Given the description of an element on the screen output the (x, y) to click on. 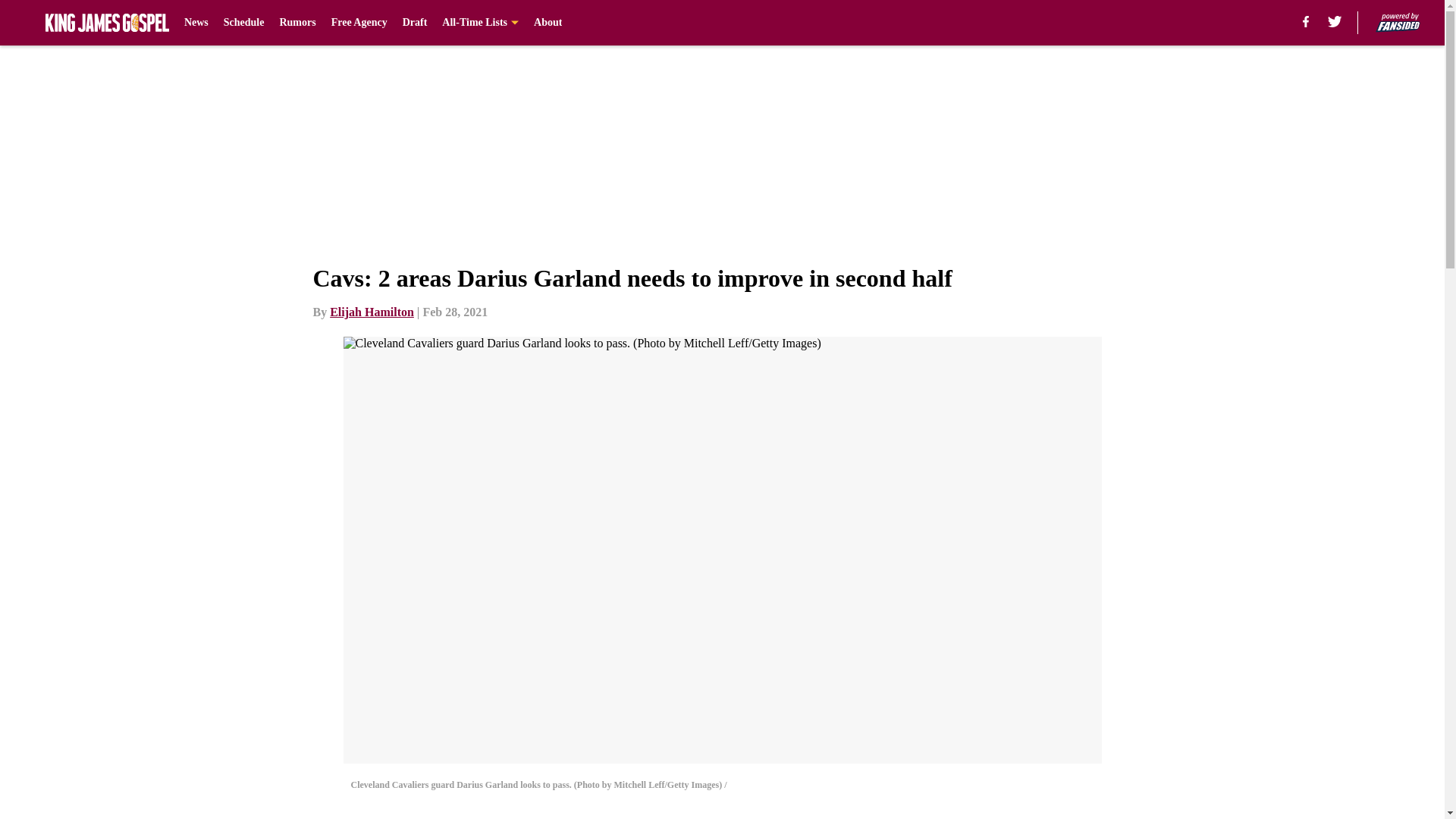
About (548, 22)
Elijah Hamilton (371, 311)
Free Agency (359, 22)
Draft (415, 22)
News (196, 22)
Schedule (244, 22)
Rumors (297, 22)
All-Time Lists (480, 22)
